Given the description of an element on the screen output the (x, y) to click on. 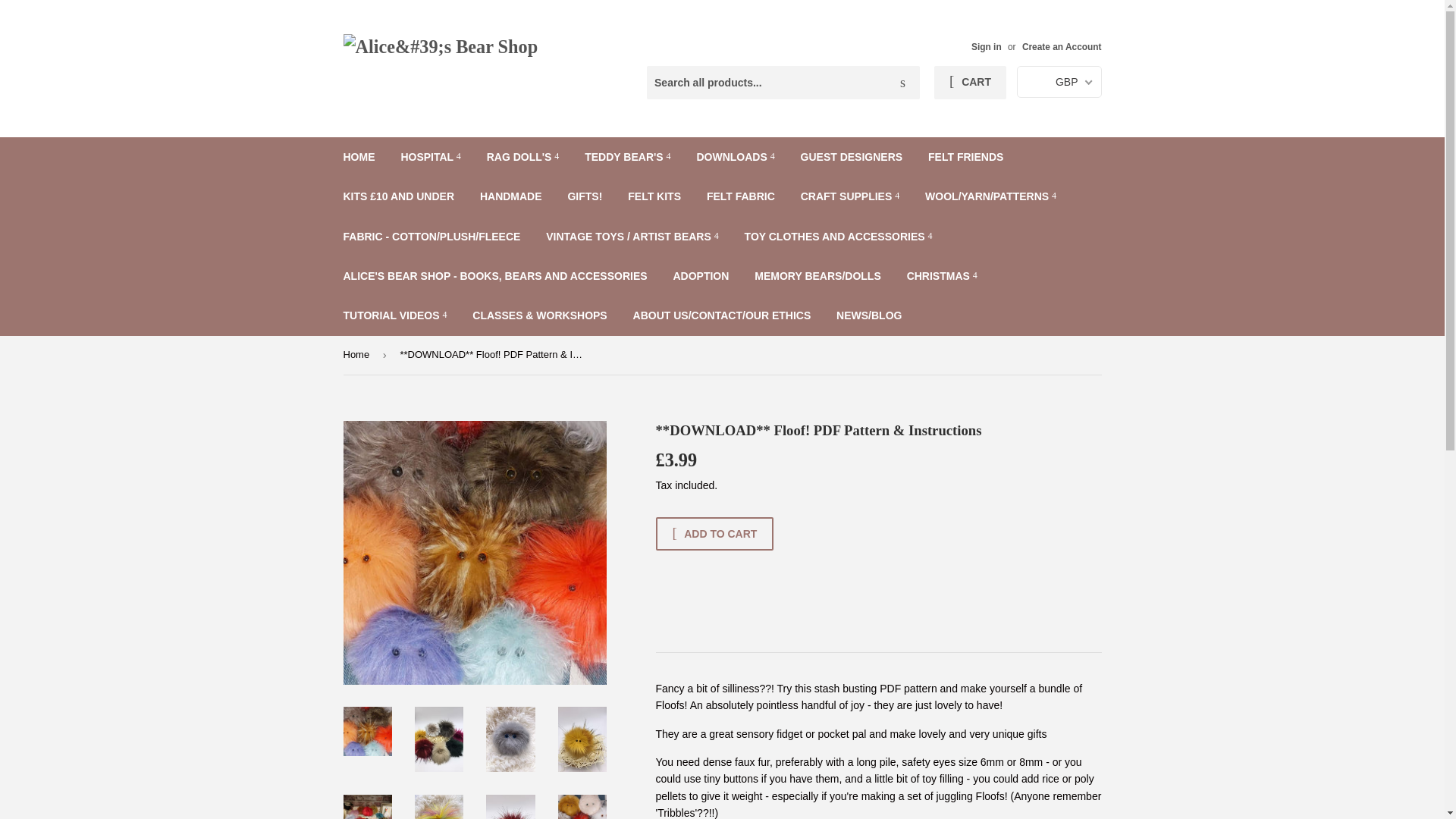
Sign in (986, 46)
Create an Account (1062, 46)
Search (902, 83)
CART (970, 82)
